Given the description of an element on the screen output the (x, y) to click on. 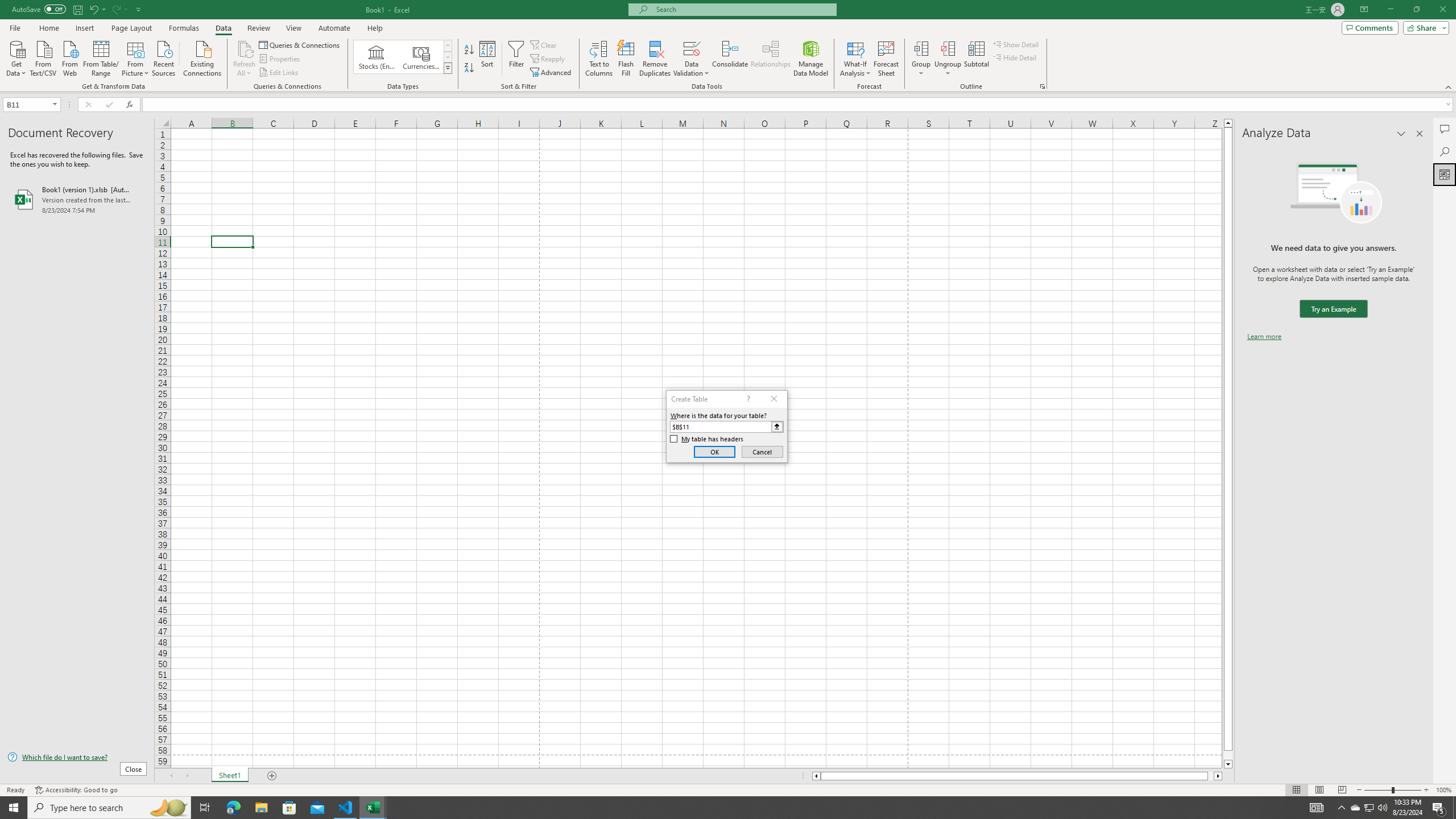
Sort Z to A (469, 67)
Manage Data Model (810, 58)
